Given the description of an element on the screen output the (x, y) to click on. 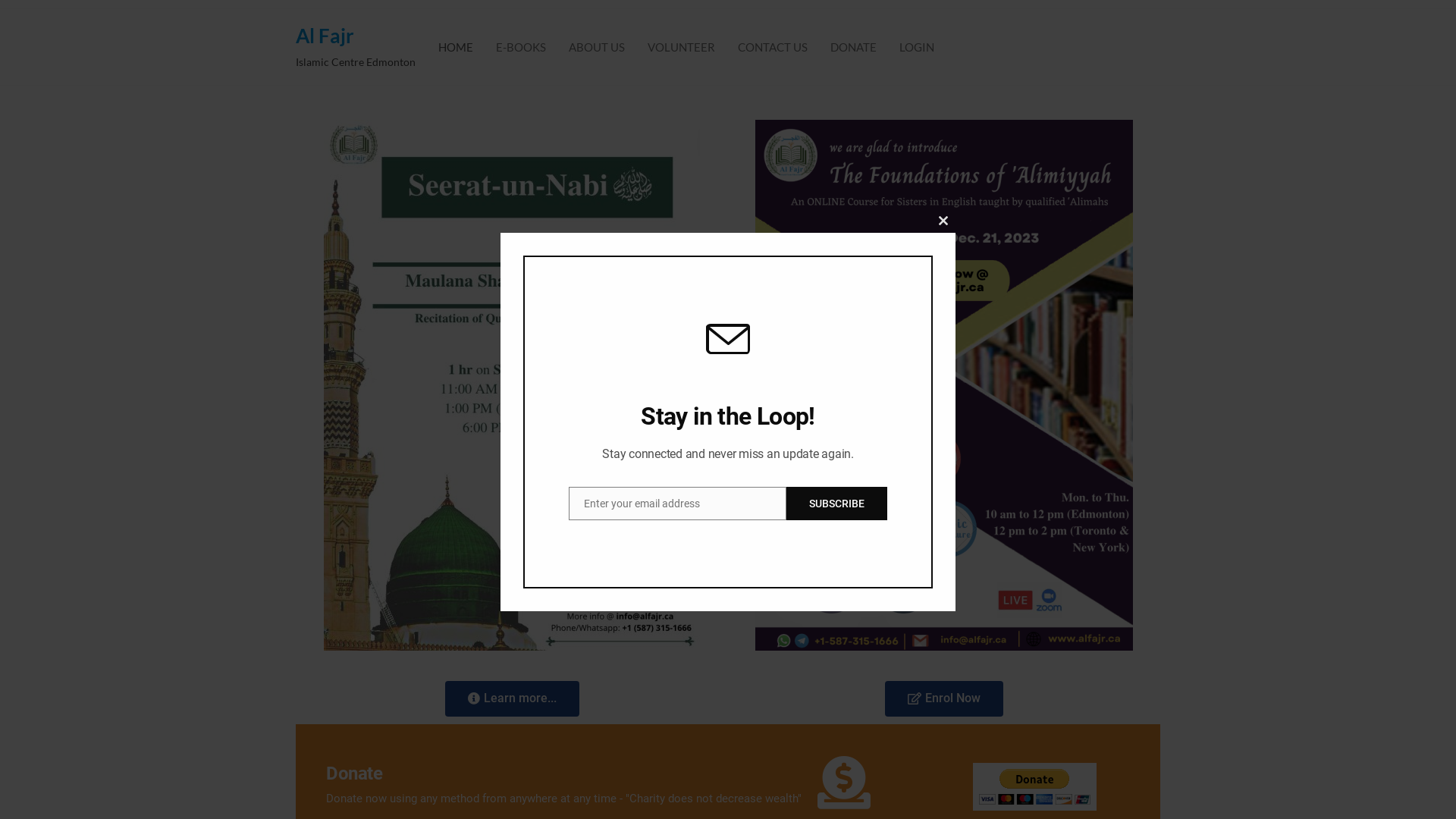
Al Fajr Element type: text (324, 35)
VOLUNTEER Element type: text (681, 46)
Alimiyyah Course Element type: hover (943, 384)
CONTACT US Element type: text (772, 46)
ABOUT US Element type: text (596, 46)
Close this module Element type: text (943, 219)
HOME Element type: text (455, 46)
Learn more... Element type: text (511, 698)
PayPal - The safer, easier way to pay online! Element type: hover (1034, 786)
E-BOOKS Element type: text (520, 46)
SUBSCRIBE Element type: text (836, 503)
Donate Element type: text (354, 773)
DONATE Element type: text (853, 46)
Enrol Now Element type: text (943, 698)
LOGIN Element type: text (916, 46)
Seerah of Nahi SAW 2023 program Element type: hover (511, 384)
